Given the description of an element on the screen output the (x, y) to click on. 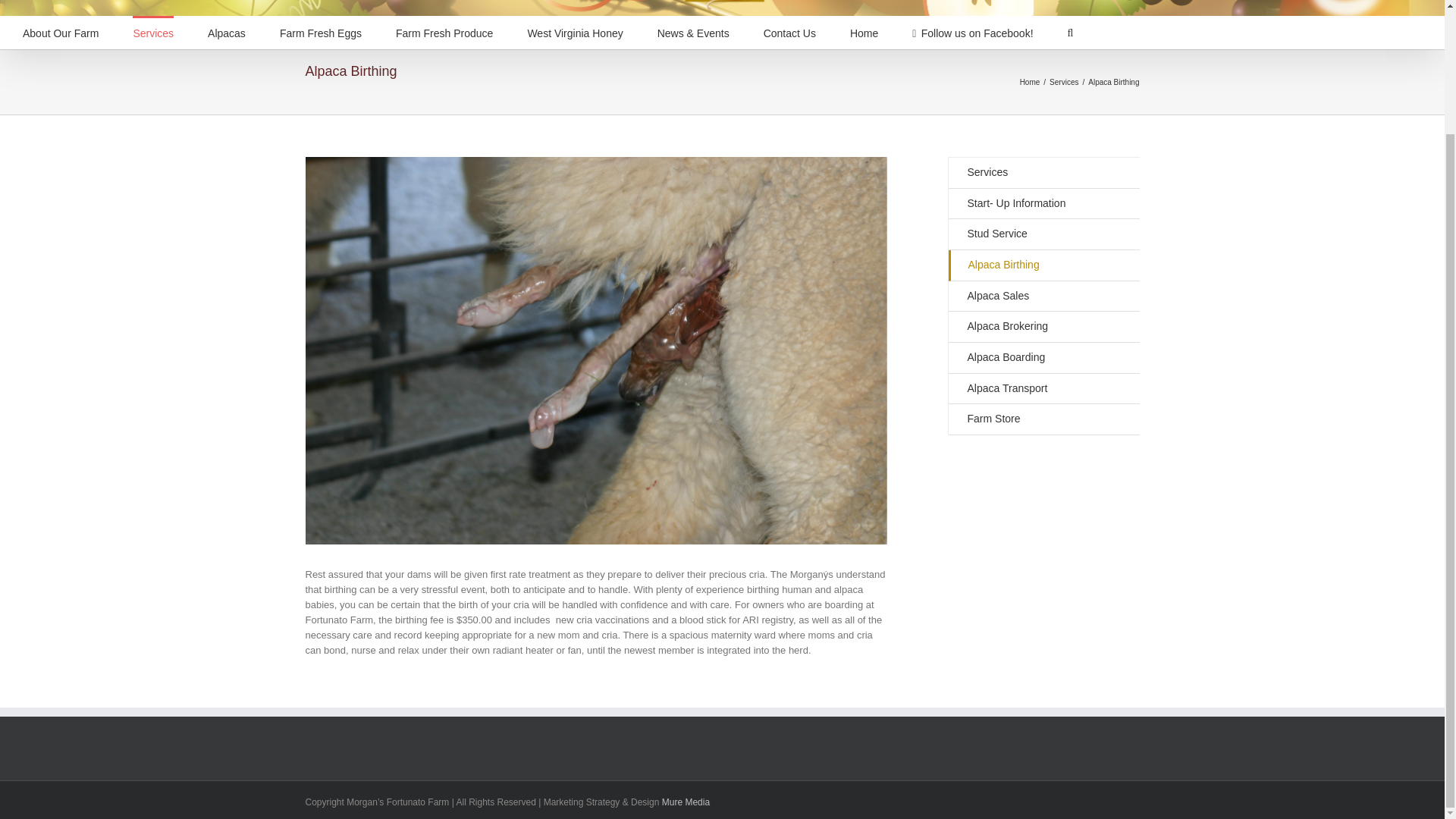
Follow us on Facebook! (972, 31)
Farm Fresh Produce (444, 31)
About Our Farm (61, 31)
Contact Us (788, 31)
Services (152, 31)
Back to Parent Page (1042, 173)
Farm Fresh Eggs (320, 31)
West Virginia Honey (575, 31)
Alpacas (227, 31)
